Given the description of an element on the screen output the (x, y) to click on. 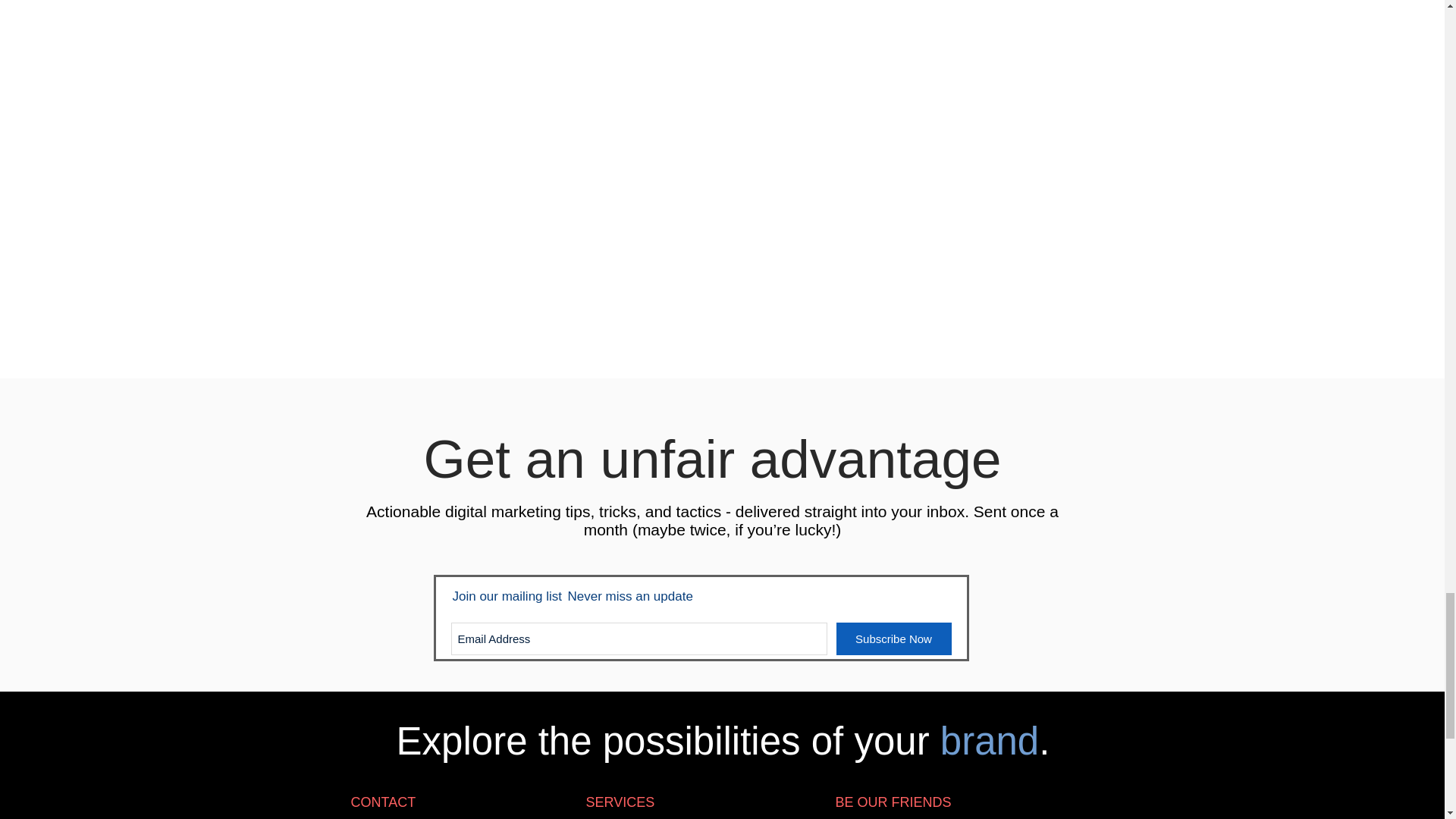
Subscribe Now (892, 638)
